Given the description of an element on the screen output the (x, y) to click on. 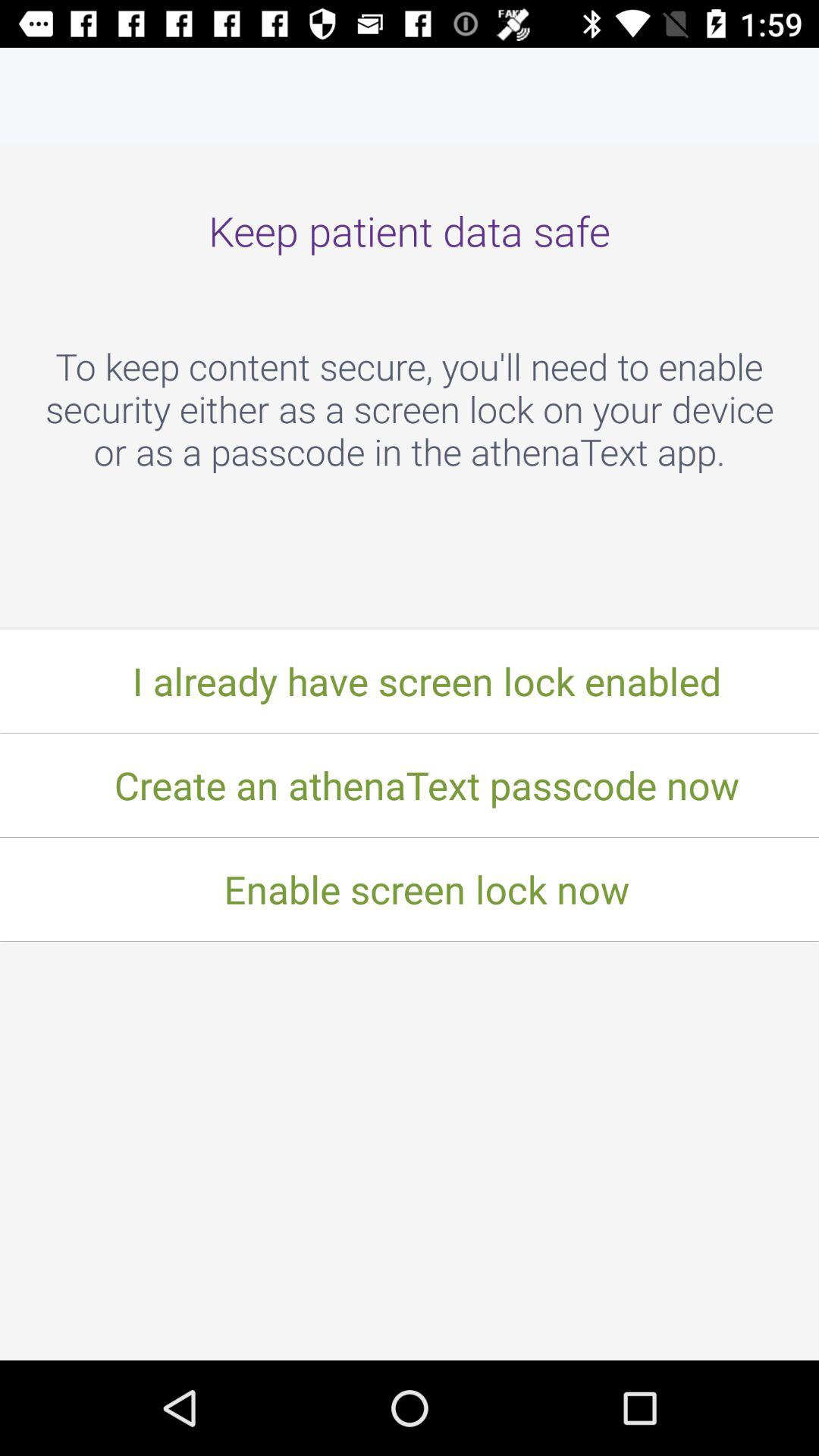
tap icon below to keep content (409, 681)
